Given the description of an element on the screen output the (x, y) to click on. 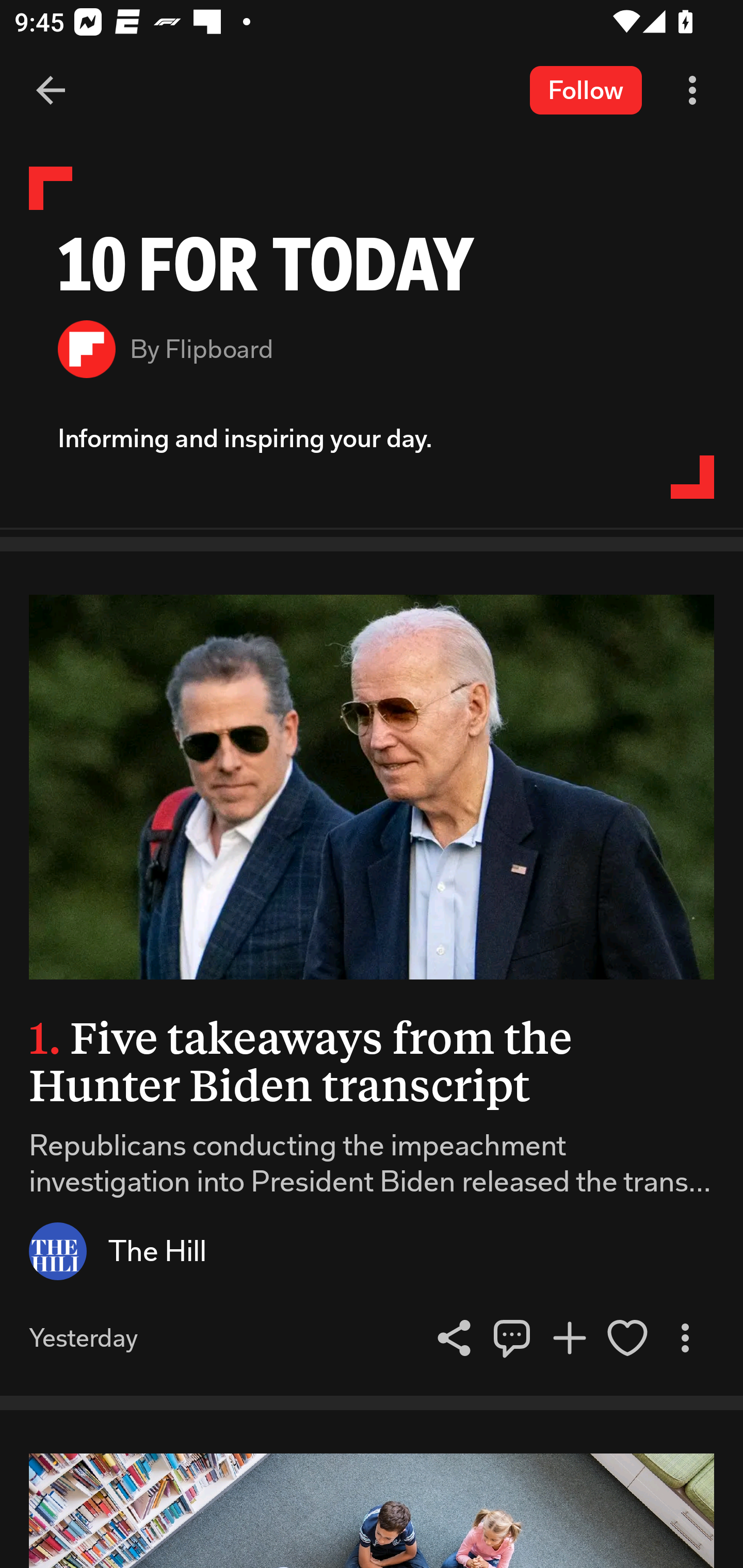
Back (50, 90)
Options (692, 90)
Follow (585, 89)
By Flipboard (371, 348)
Share (453, 1338)
Share (511, 1338)
Flip into Magazine (569, 1338)
Like (627, 1338)
Options (685, 1338)
